Given the description of an element on the screen output the (x, y) to click on. 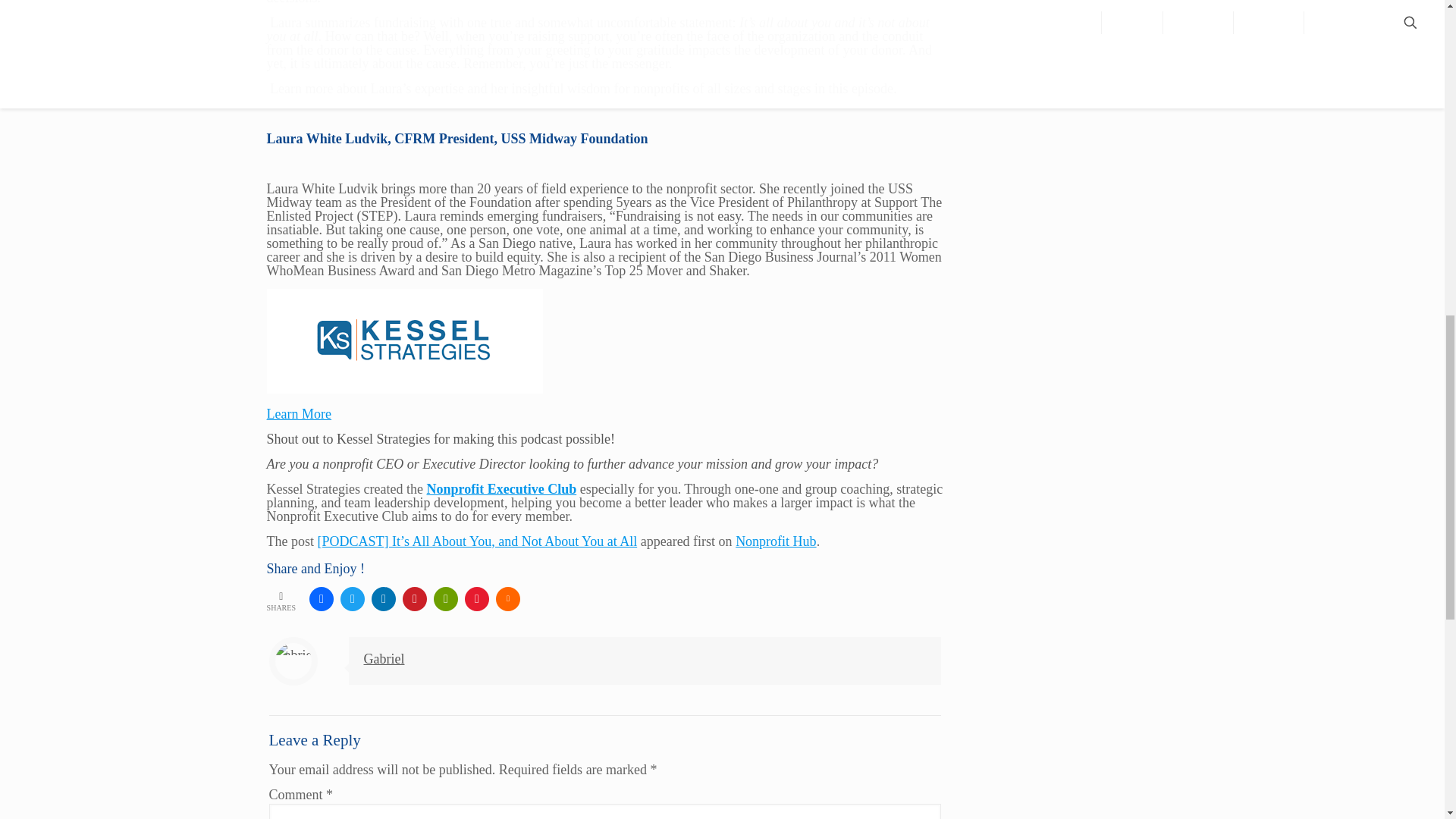
Nonprofit Hub (775, 540)
Add this to LinkedIn (383, 598)
Submit this to Pinterest (414, 598)
Kessel (404, 341)
Print this article  (445, 598)
Gabriel (384, 658)
Nonprofit Executive Club (501, 488)
Learn More (298, 413)
More share links (507, 598)
Tweet this ! (352, 598)
